Given the description of an element on the screen output the (x, y) to click on. 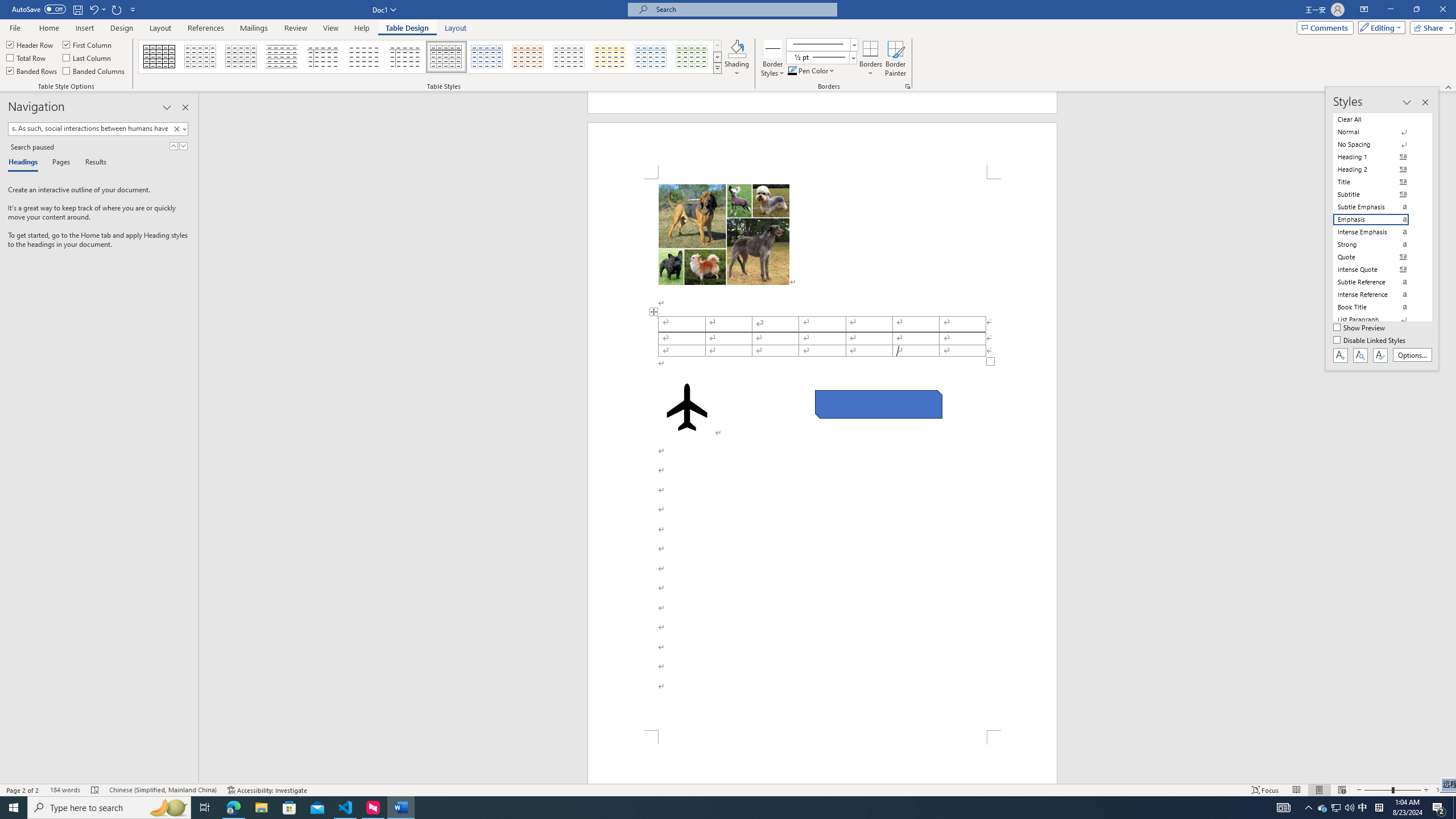
Banded Rows (32, 69)
Show Preview (1360, 328)
Normal (1377, 131)
Intense Quote (1377, 269)
Table Grid Light (200, 56)
Intense Emphasis (1377, 232)
